Given the description of an element on the screen output the (x, y) to click on. 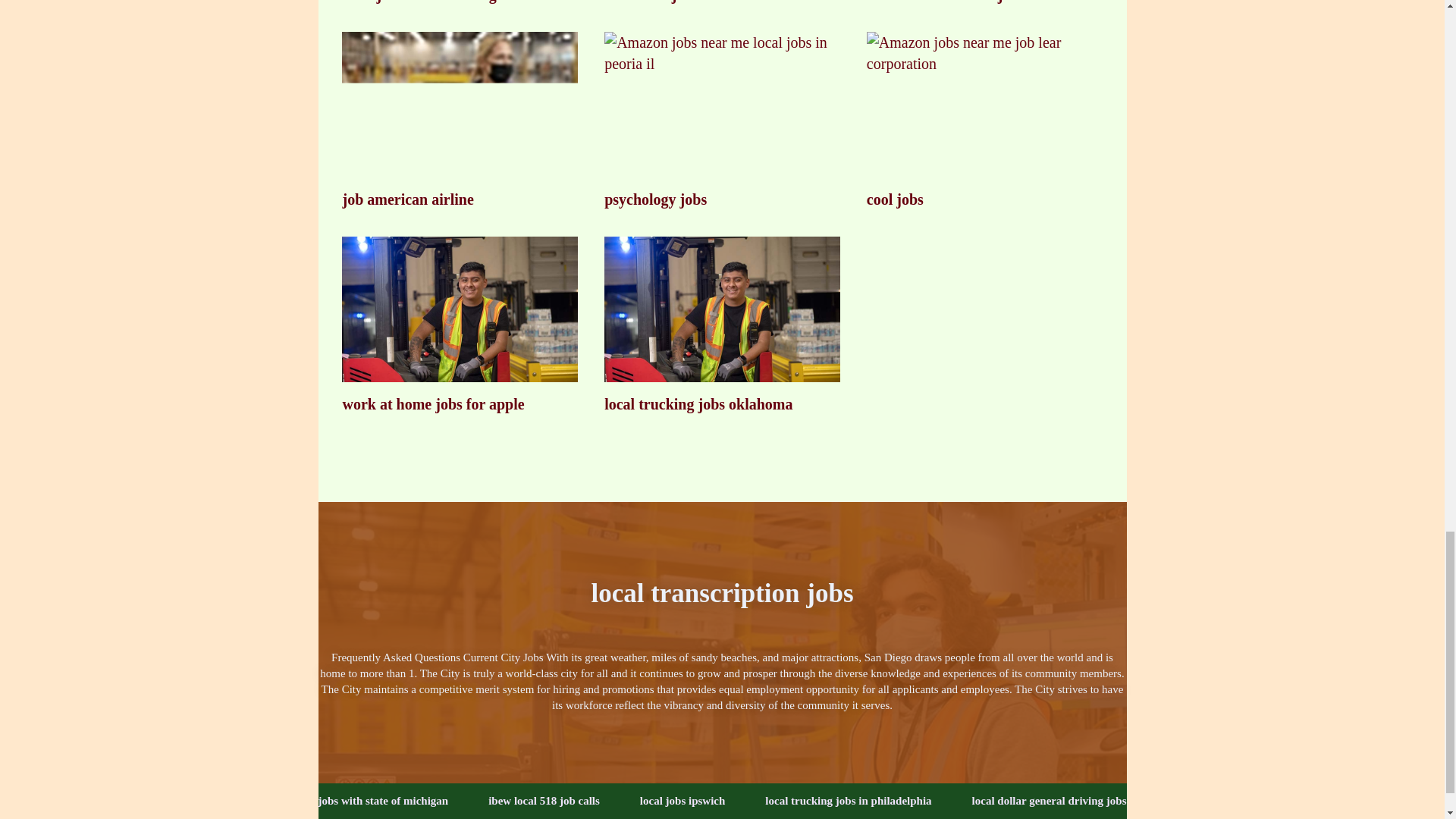
Amazon jobs near me (722, 104)
Amazon jobs near me (722, 310)
ndsr local jobs (722, 2)
local jobs in savannah ga (460, 2)
Amazon jobs near me (460, 105)
psychology jobs (722, 120)
work at home jobs for apple (460, 325)
Amazon jobs near me (460, 310)
cool jobs (984, 120)
local trucking jobs oklahoma (722, 325)
